Given the description of an element on the screen output the (x, y) to click on. 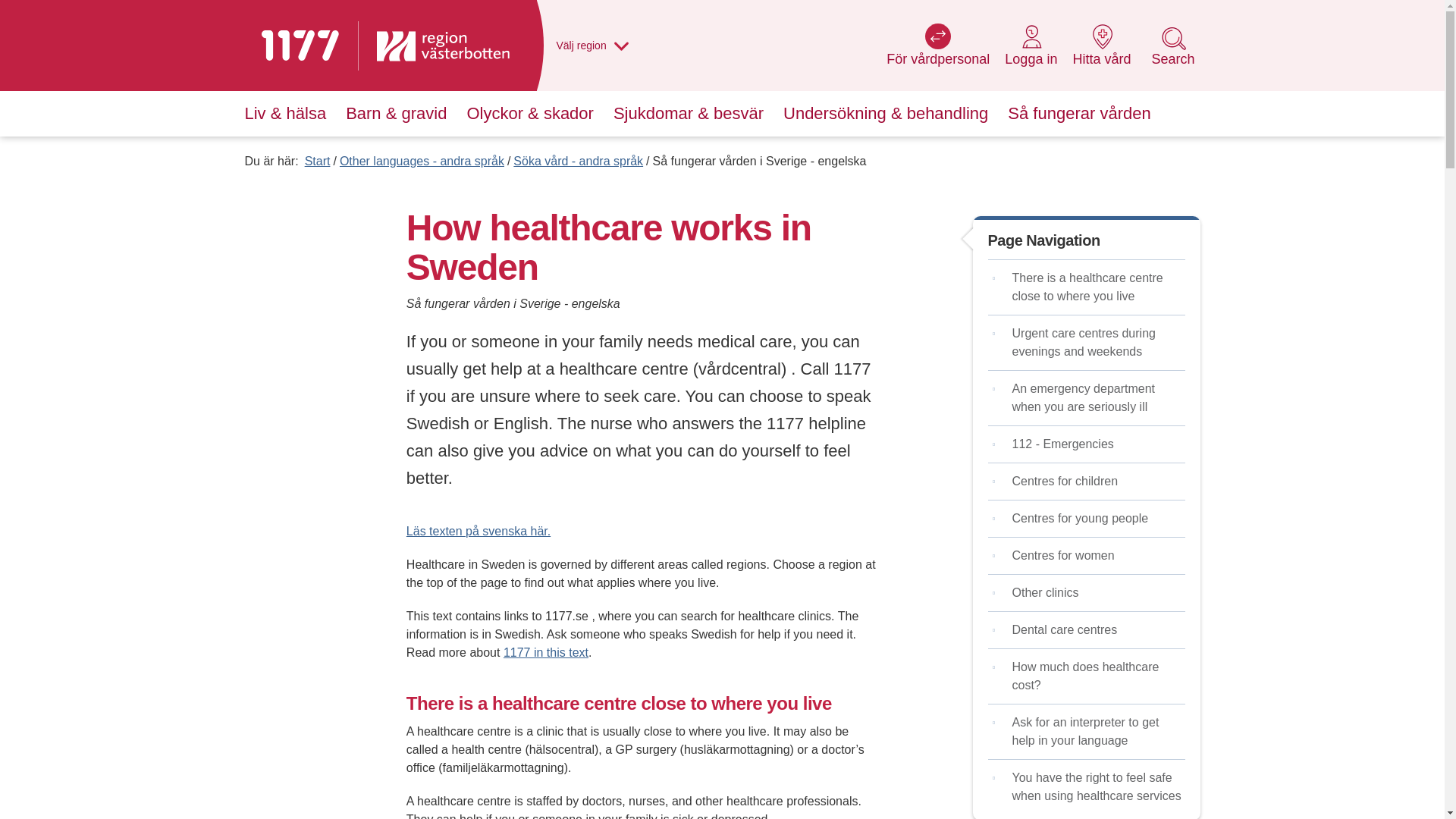
To start page for 1177 (1172, 53)
1177 in this text (298, 45)
Start (545, 652)
There is a healthcare centre close to where you live (317, 161)
Urgent care centres during evenings and weekends (1030, 53)
